Given the description of an element on the screen output the (x, y) to click on. 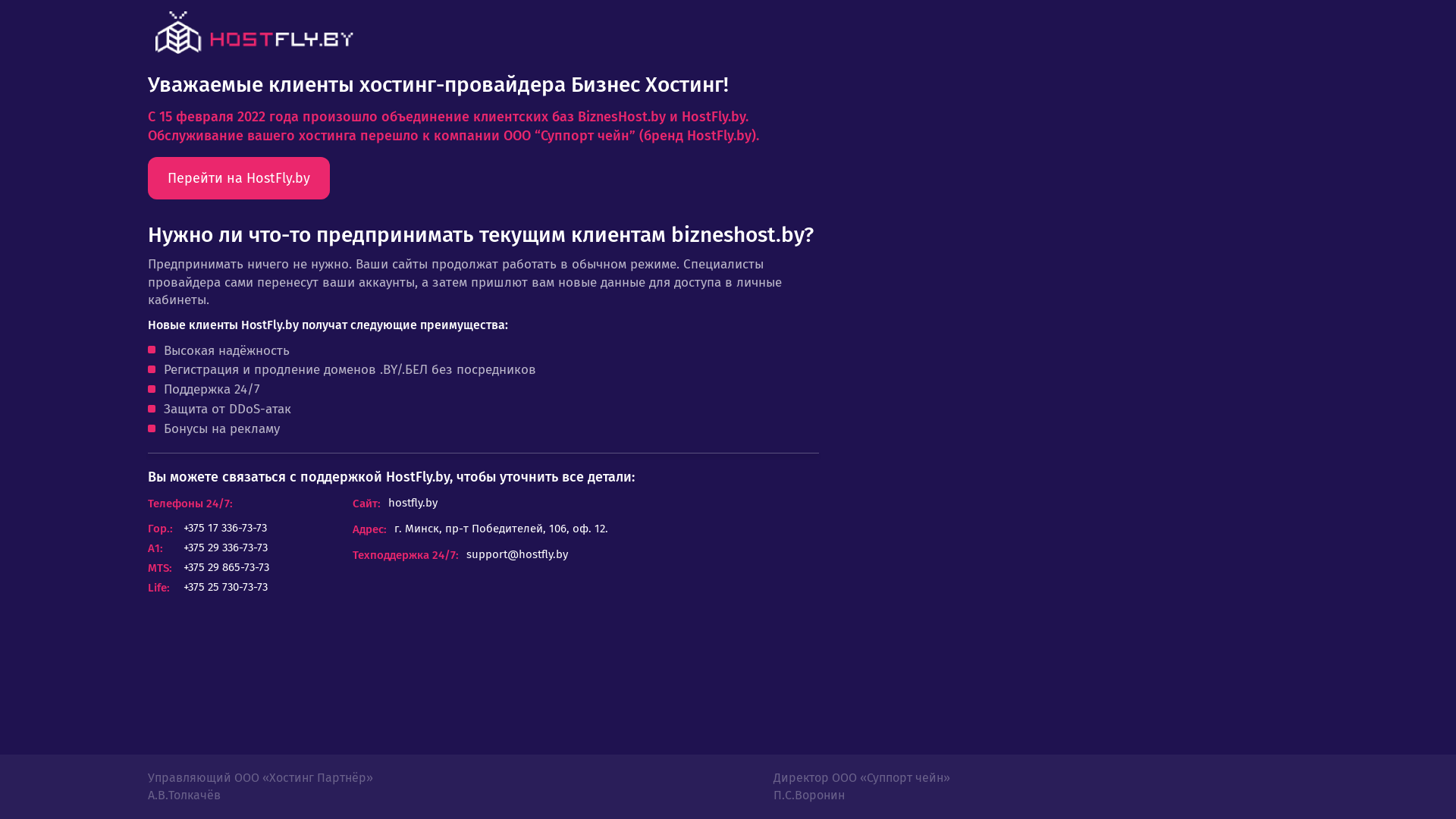
+375 17 336-73-73 Element type: text (224, 528)
+375 25 730-73-73 Element type: text (225, 587)
+375 29 336-73-73 Element type: text (225, 547)
+375 29 865-73-73 Element type: text (226, 567)
link Element type: text (253, 32)
hostfly.by Element type: text (412, 503)
support@hostfly.by Element type: text (516, 554)
